Given the description of an element on the screen output the (x, y) to click on. 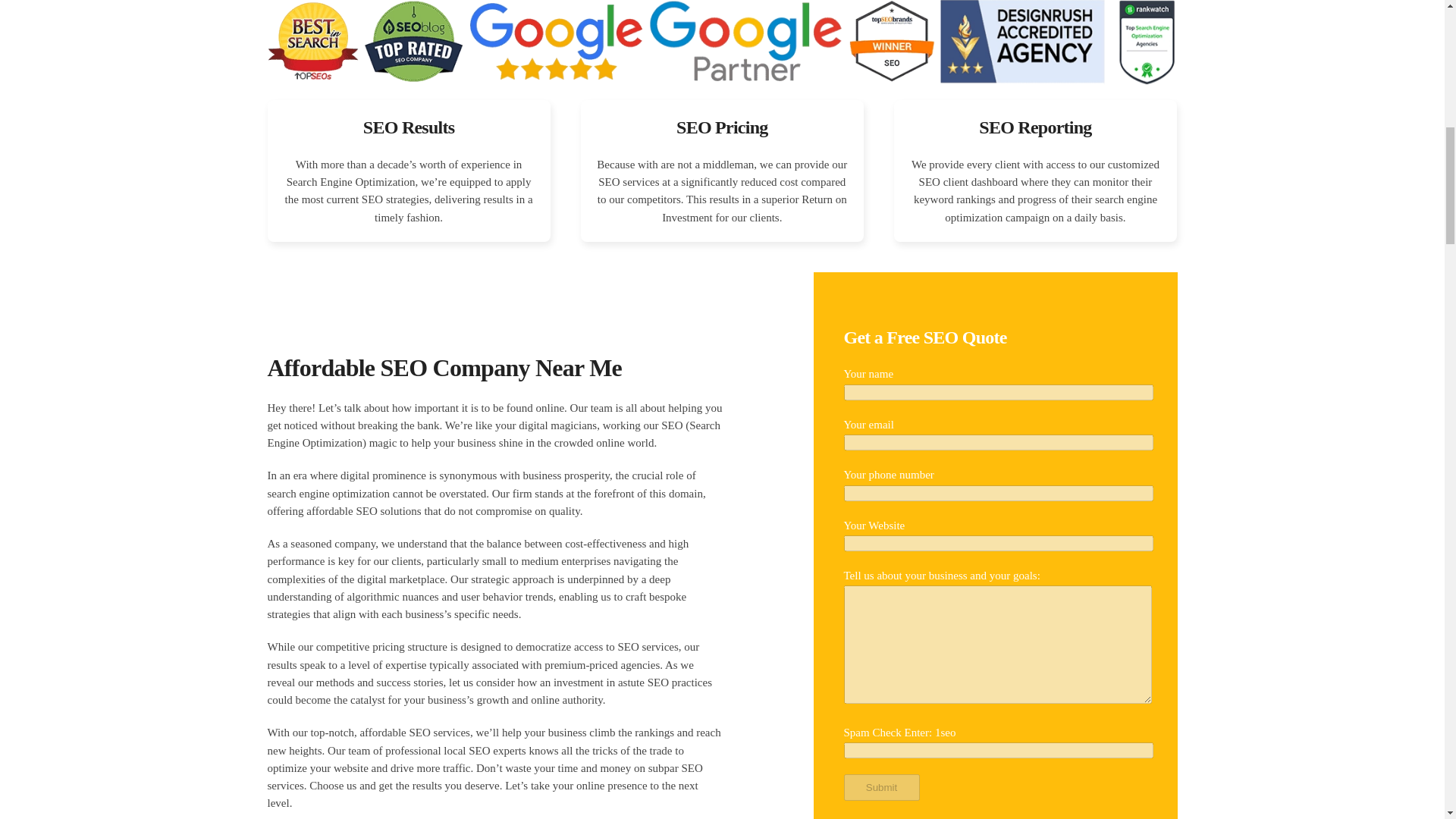
Submit (880, 786)
Submit (880, 786)
